Given the description of an element on the screen output the (x, y) to click on. 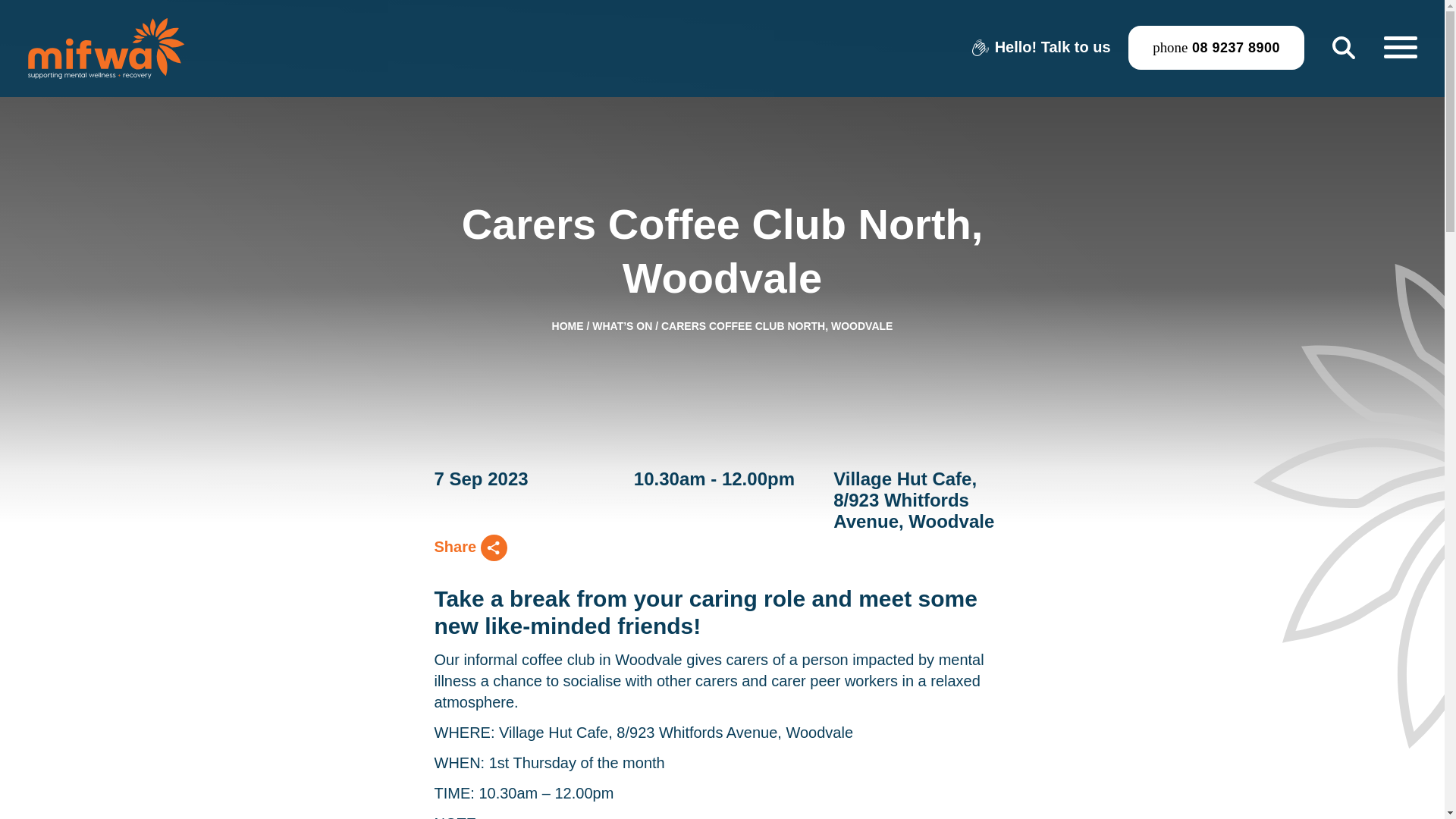
Menu (1399, 47)
phone 08 9237 8900 (1216, 47)
Go to MIFWA. (567, 326)
Talk to us (1075, 46)
